Given the description of an element on the screen output the (x, y) to click on. 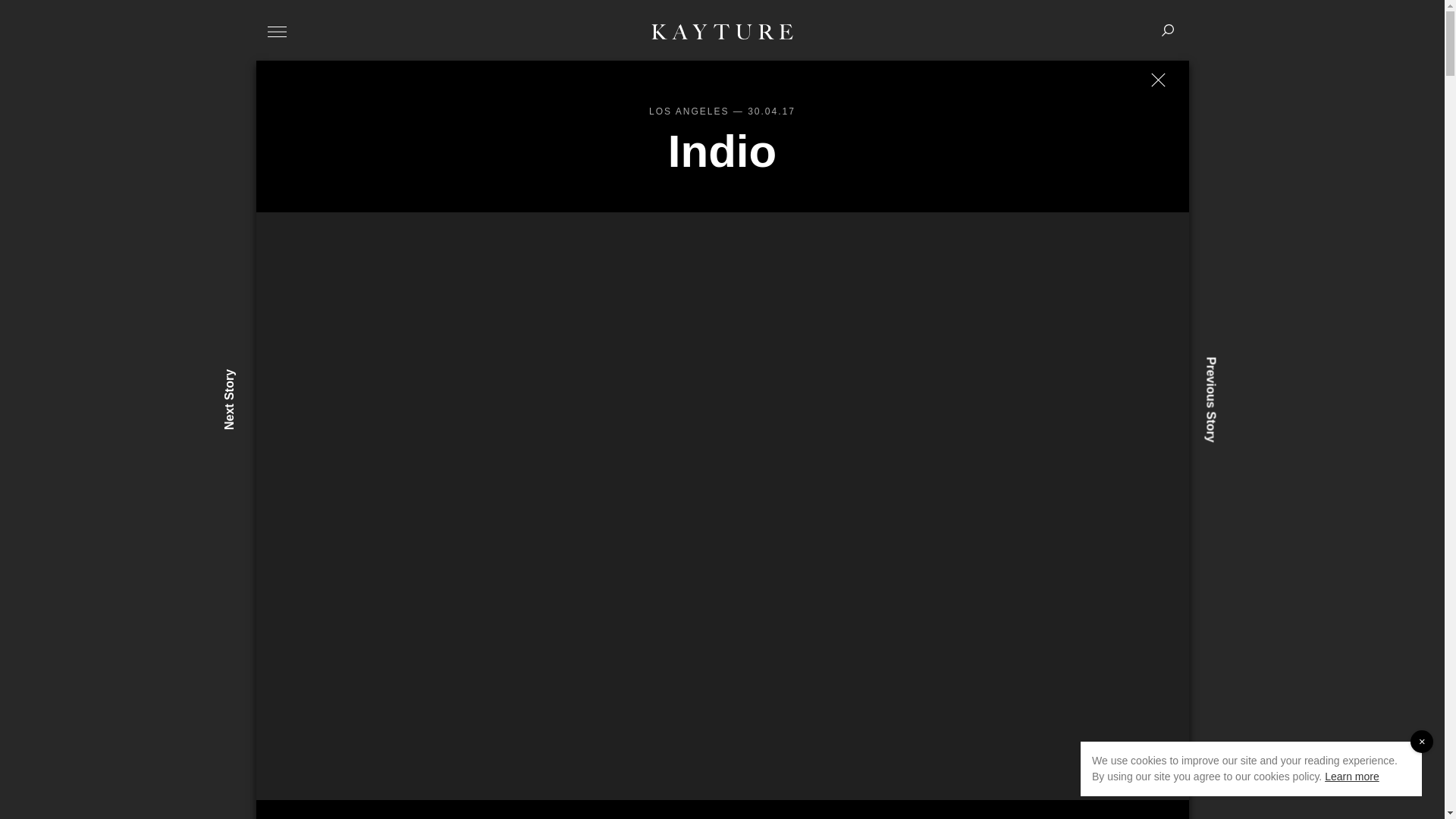
Previous Story (1247, 363)
Kayture (721, 31)
Next Story (253, 375)
